Given the description of an element on the screen output the (x, y) to click on. 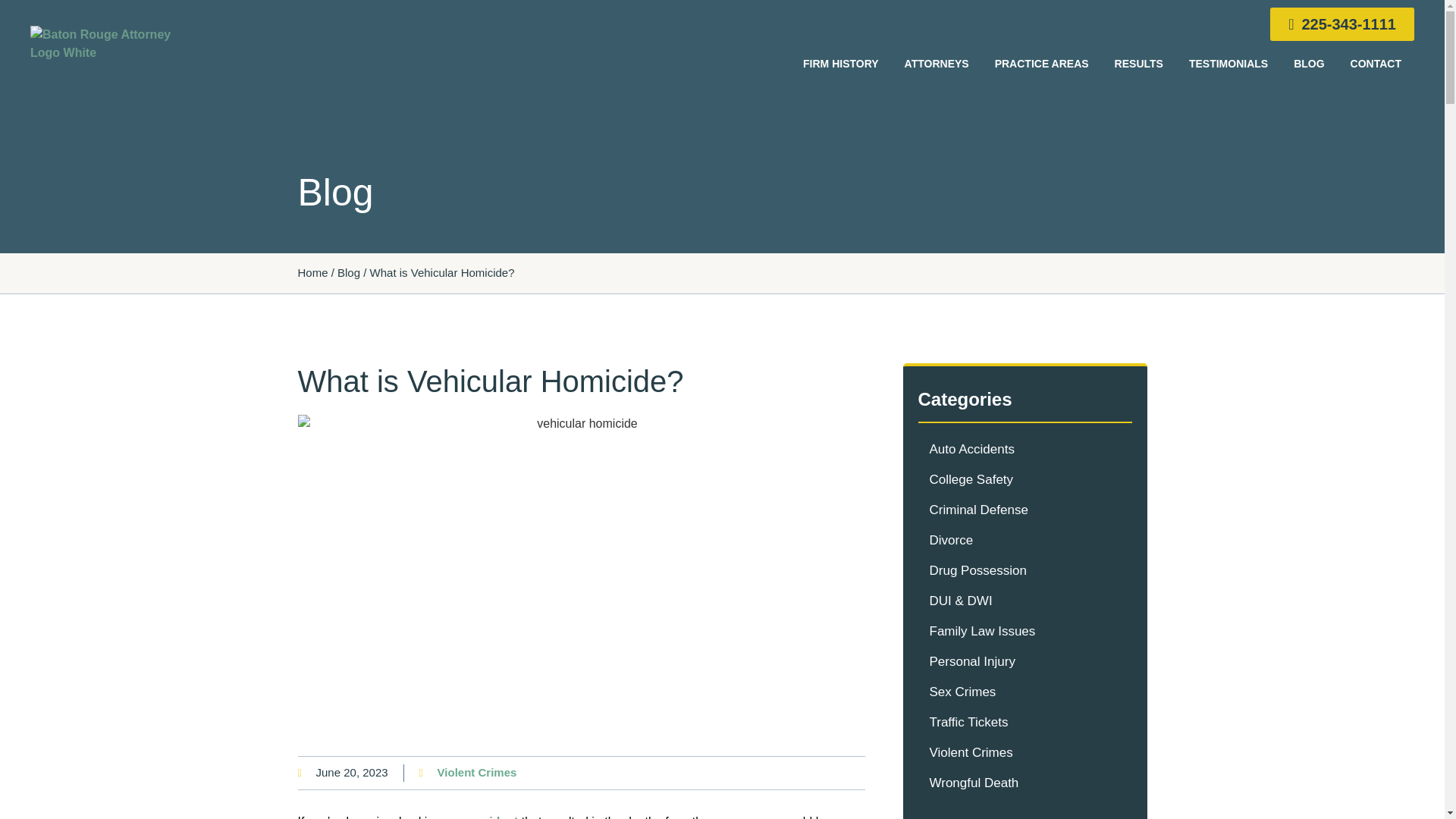
FIRM HISTORY (840, 63)
225-343-1111 (1341, 23)
PRACTICE AREAS (1041, 63)
ATTORNEYS (936, 63)
